Given the description of an element on the screen output the (x, y) to click on. 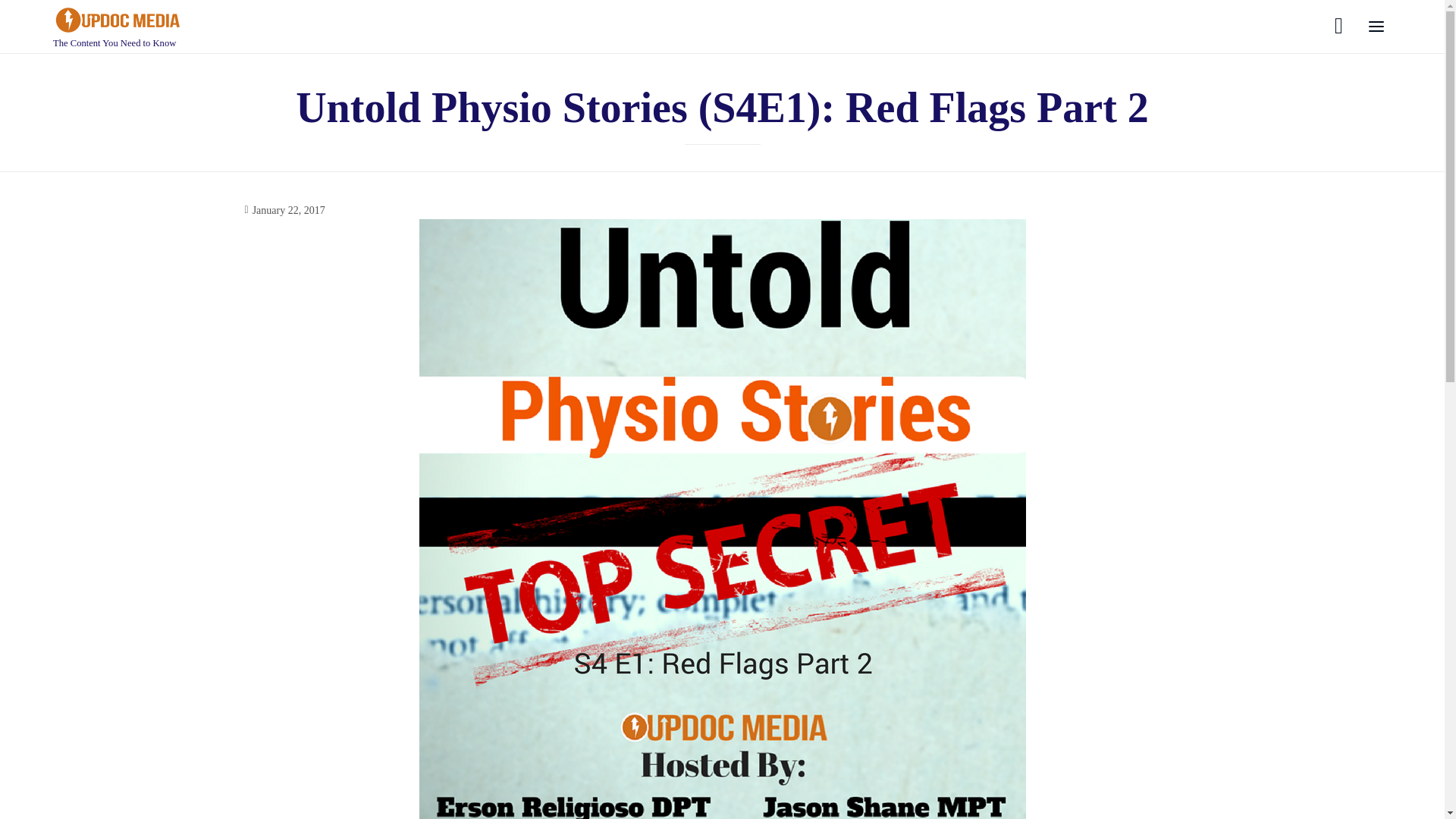
UpDoc Media (116, 19)
